Given the description of an element on the screen output the (x, y) to click on. 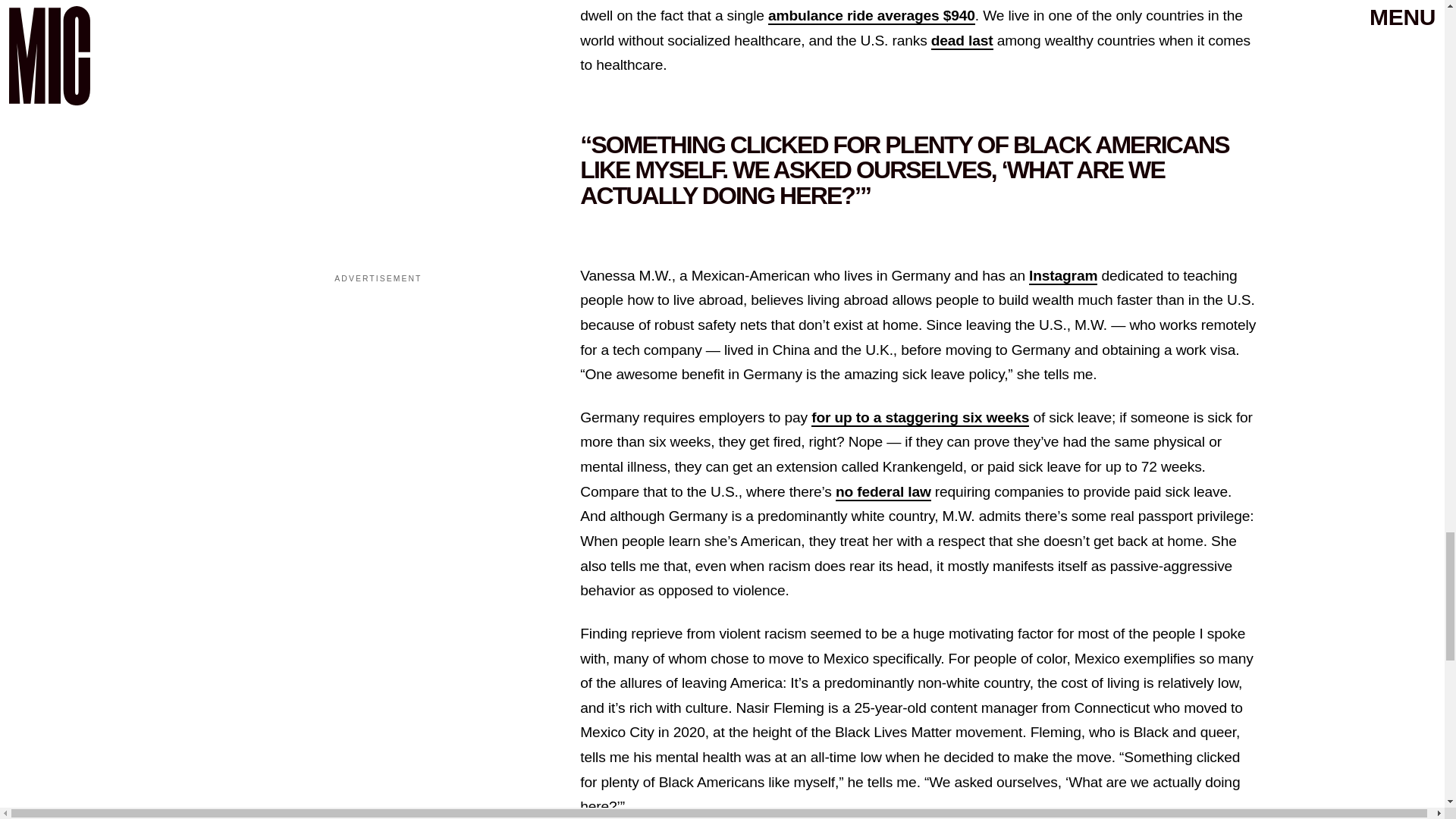
no federal law (883, 492)
for up to a staggering six weeks (919, 417)
Instagram (1063, 276)
dead last (961, 40)
